Given the description of an element on the screen output the (x, y) to click on. 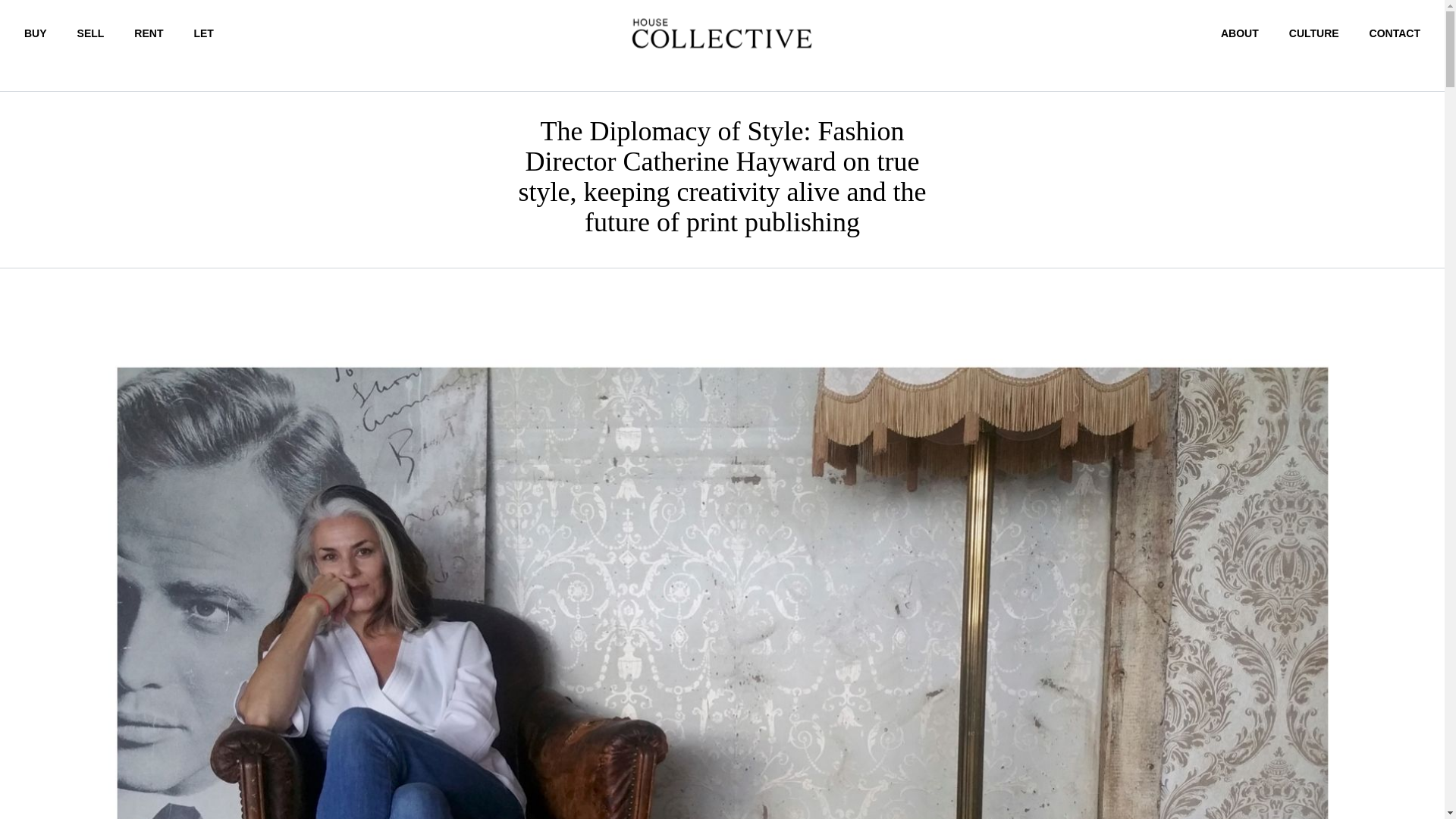
SELL (90, 33)
RENT (148, 33)
ABOUT (1240, 32)
LET (202, 33)
CONTACT (1395, 32)
CULTURE (1313, 32)
BUY (35, 33)
